Given the description of an element on the screen output the (x, y) to click on. 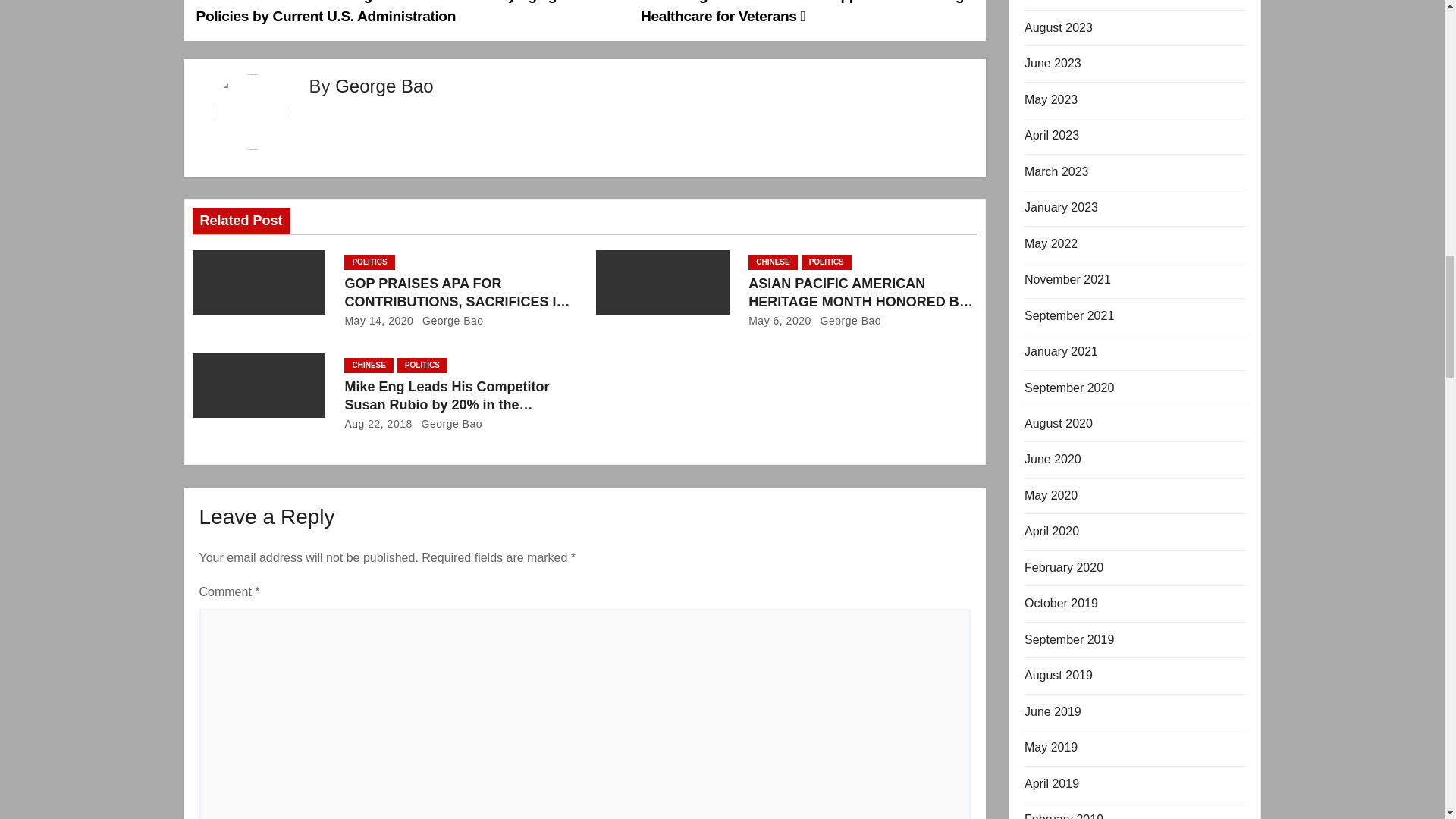
May 14, 2020 (378, 320)
POLITICS (826, 262)
George Bao (846, 320)
POLITICS (368, 262)
CHINESE (772, 262)
GOP PRAISES APA FOR CONTRIBUTIONS, SACRIFICES IN U.S. (456, 301)
May 6, 2020 (779, 320)
